Given the description of an element on the screen output the (x, y) to click on. 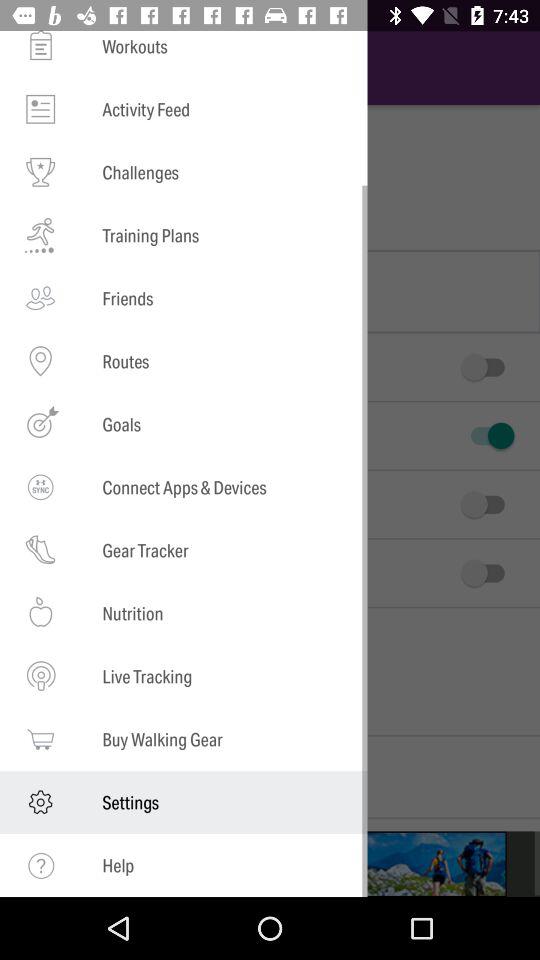
click on third switch (487, 504)
click on the second button from top (487, 435)
